Given the description of an element on the screen output the (x, y) to click on. 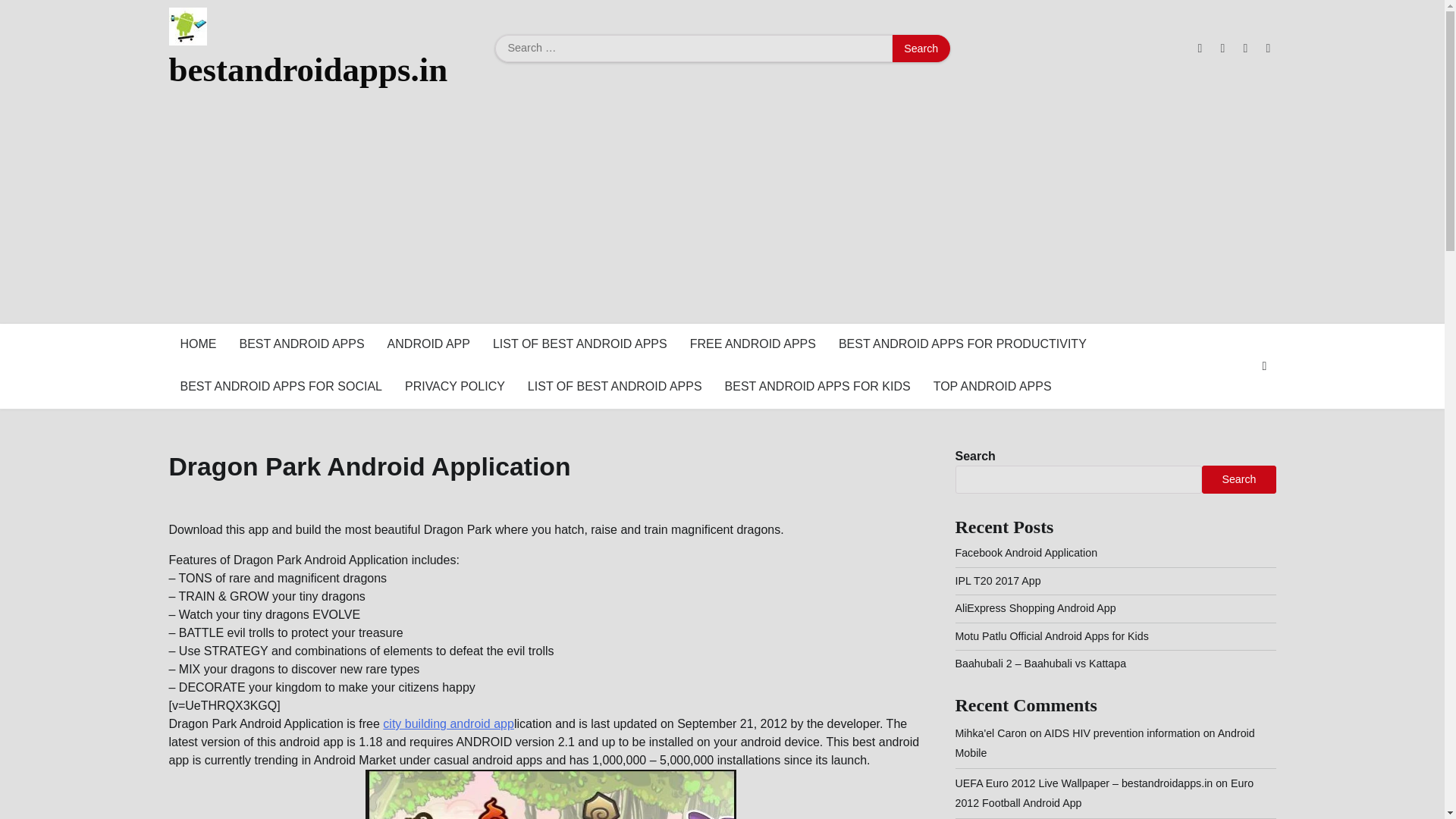
BEST ANDROID APPS (301, 344)
facebook (1199, 48)
ANDROID APP (428, 344)
TOP ANDROID APPS (991, 387)
city building android app (447, 723)
youtube (1267, 48)
bestandroidapps.in (307, 69)
FREE ANDROID APPS (752, 344)
BEST ANDROID APPS FOR SOCIAL (280, 387)
